Given the description of an element on the screen output the (x, y) to click on. 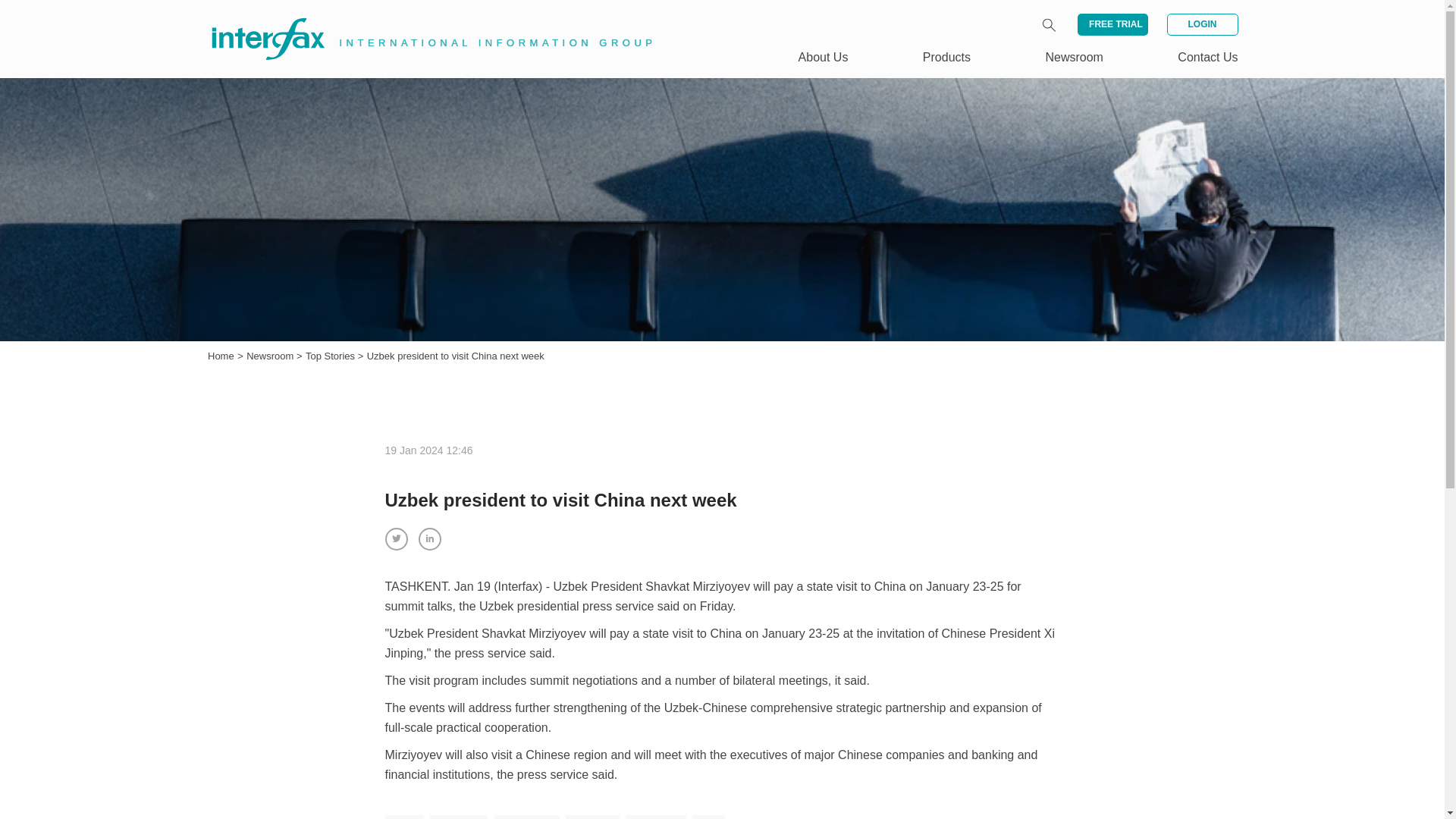
Products (947, 56)
Newsroom (271, 355)
Diplomacy (458, 816)
Newsroom (1073, 56)
Government (527, 816)
Contact Us (1207, 56)
Contact Us (1207, 56)
LOGIN (1201, 24)
President (593, 816)
Top Stories (331, 355)
